Given the description of an element on the screen output the (x, y) to click on. 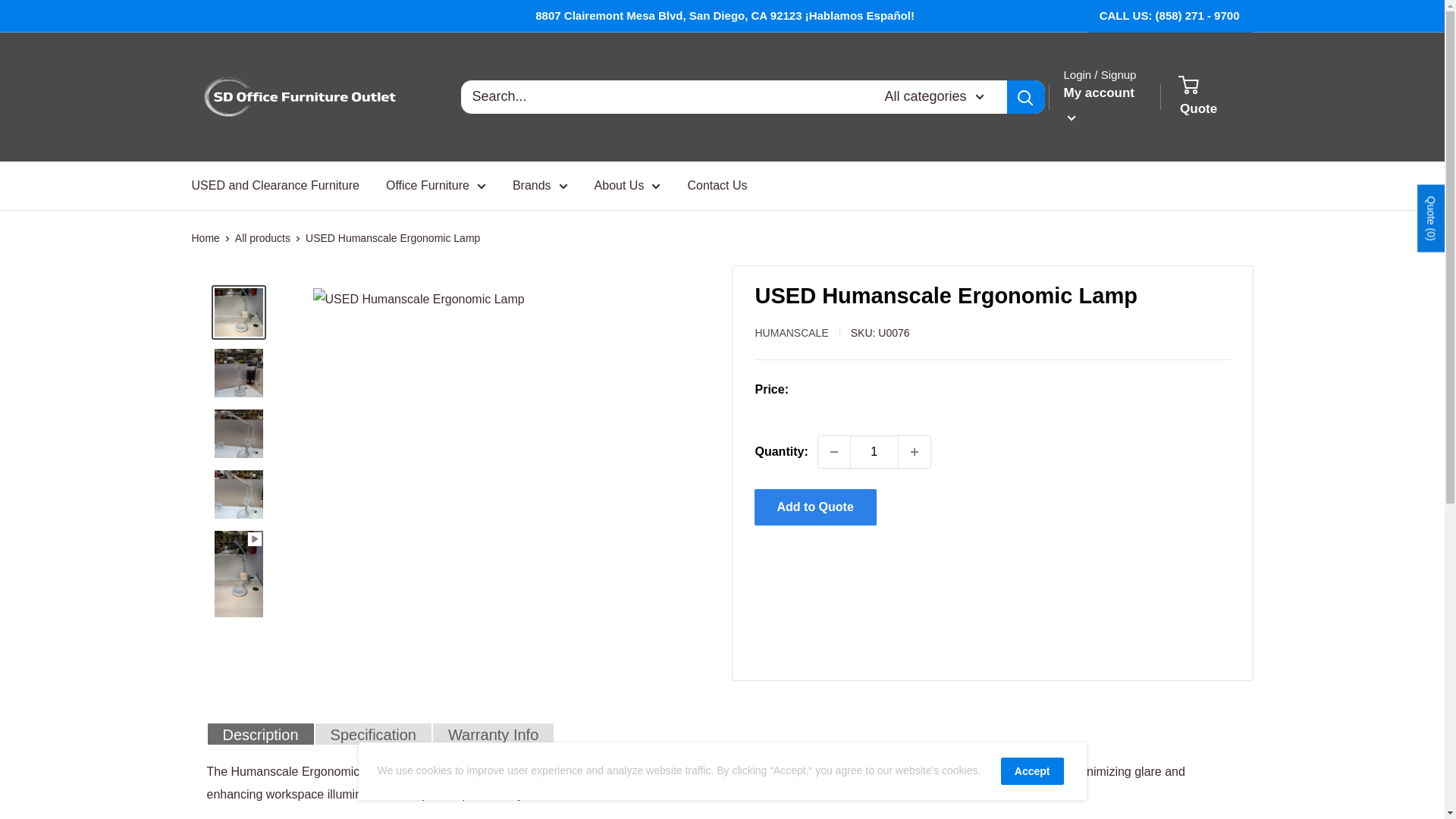
Decrease quantity by 1 (834, 451)
Increase quantity by 1 (914, 451)
1 (874, 451)
